Given the description of an element on the screen output the (x, y) to click on. 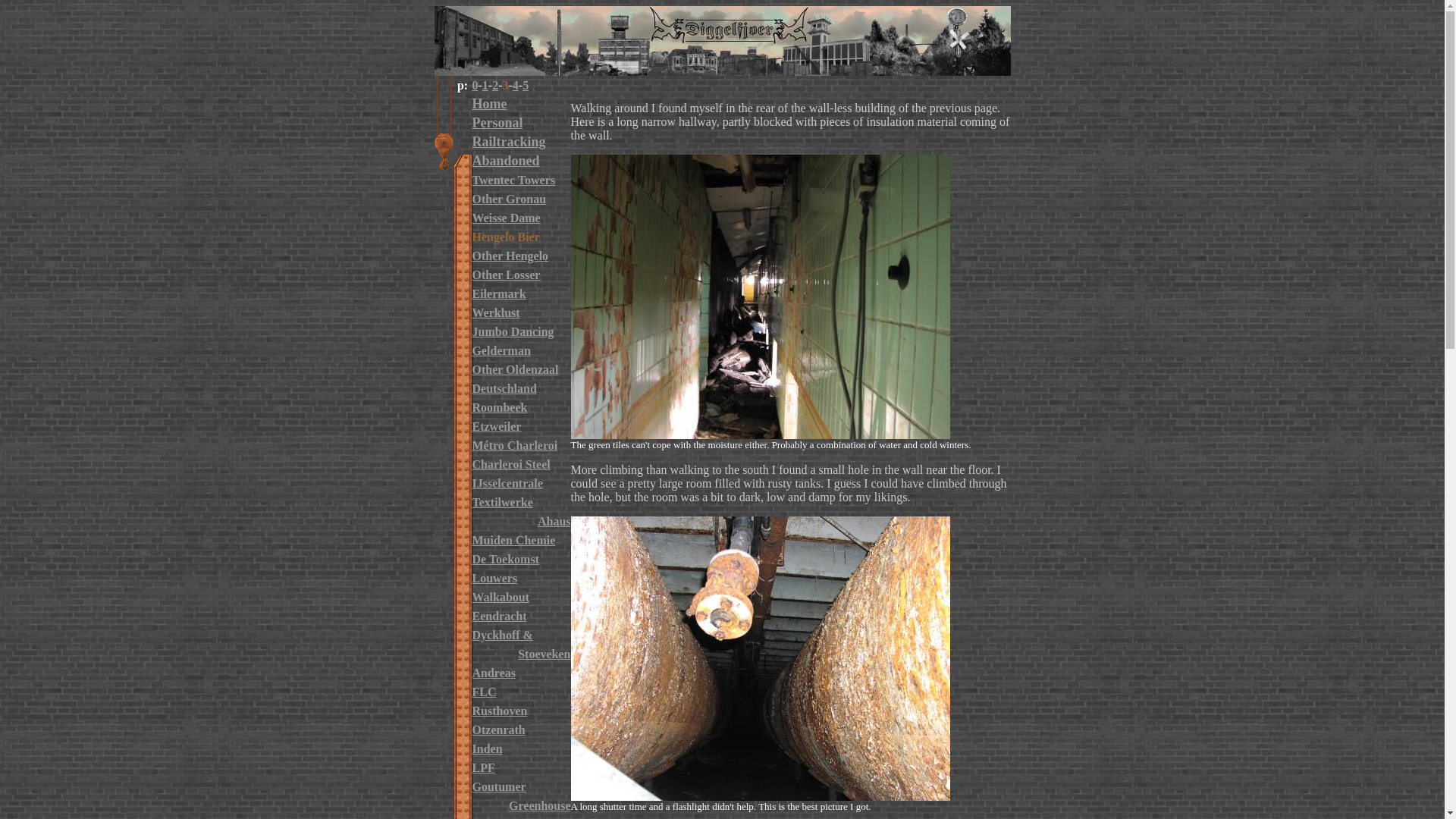
Other Oldenzaal (514, 368)
Otzenrath (497, 729)
Textilwerke (501, 502)
Roombeek (499, 406)
Abandoned (504, 160)
IJsselcentrale (506, 481)
Jumbo Dancing (512, 330)
Eendracht (498, 615)
Other Hengelo (509, 254)
Twentec Towers (512, 178)
De Toekomst (504, 558)
Inden (486, 748)
Charleroi Steel (510, 463)
Gelderman (500, 350)
Ahaus (553, 520)
